Given the description of an element on the screen output the (x, y) to click on. 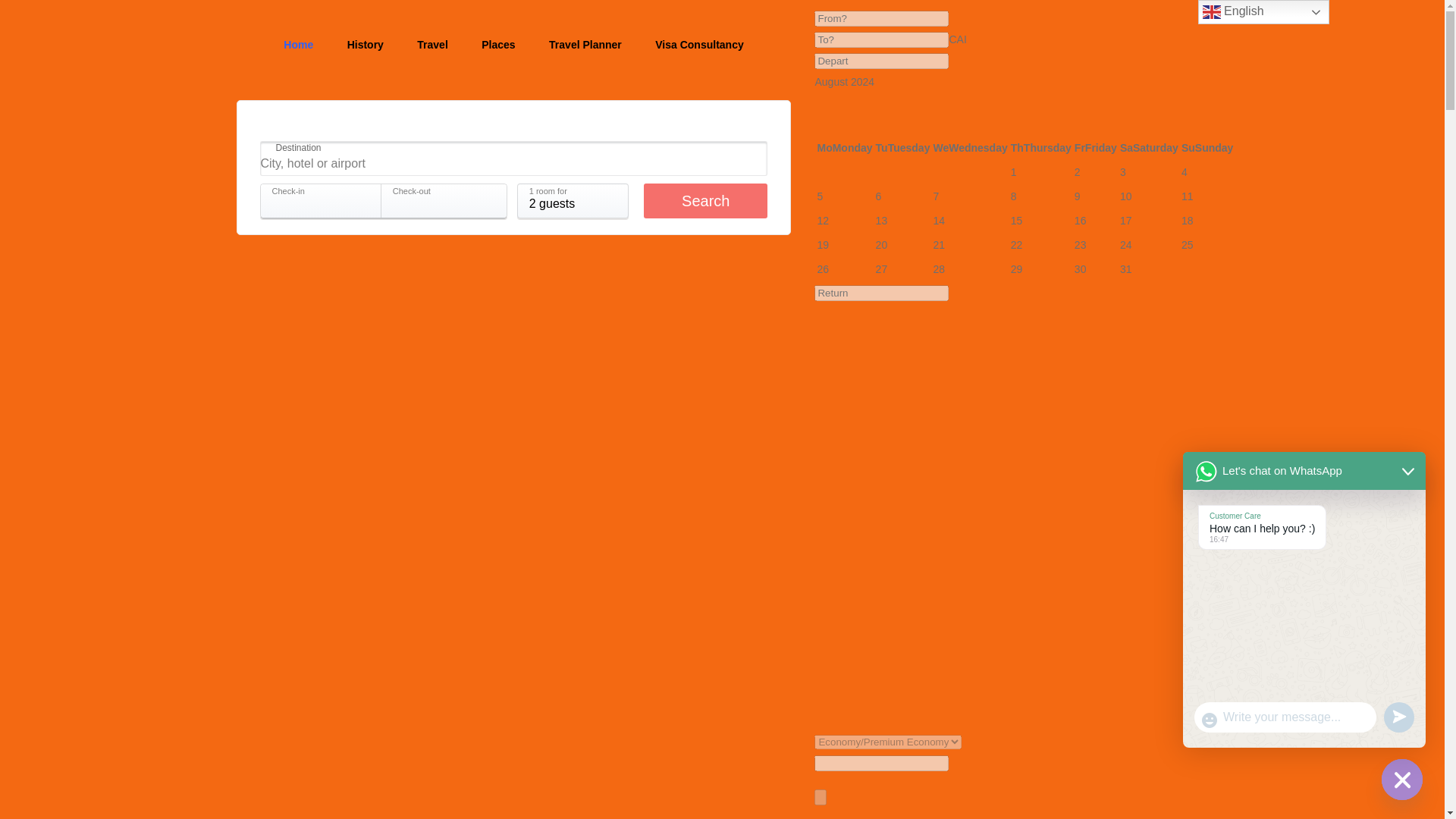
Travel Planner (585, 44)
Visa Consultancy (698, 44)
Search (705, 200)
